Given the description of an element on the screen output the (x, y) to click on. 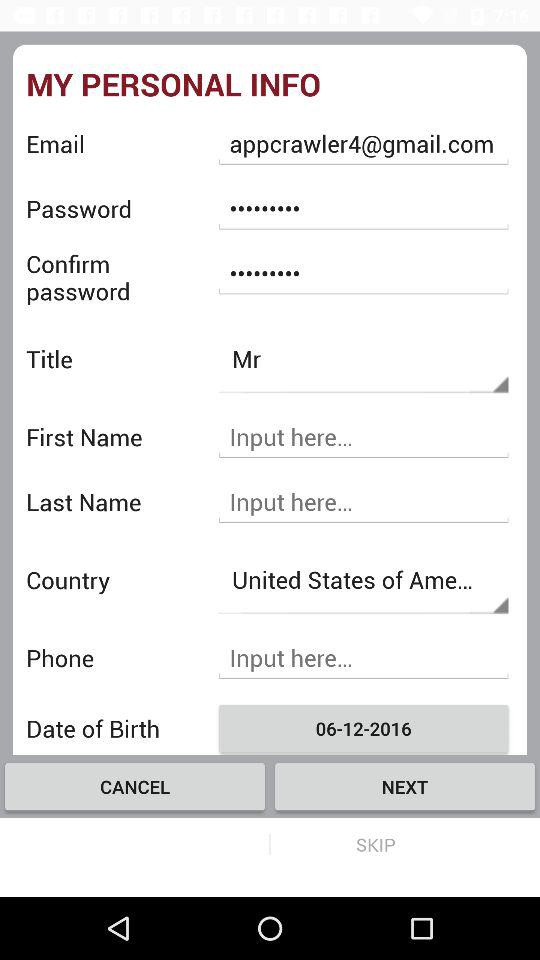
insert phone number (363, 658)
